Given the description of an element on the screen output the (x, y) to click on. 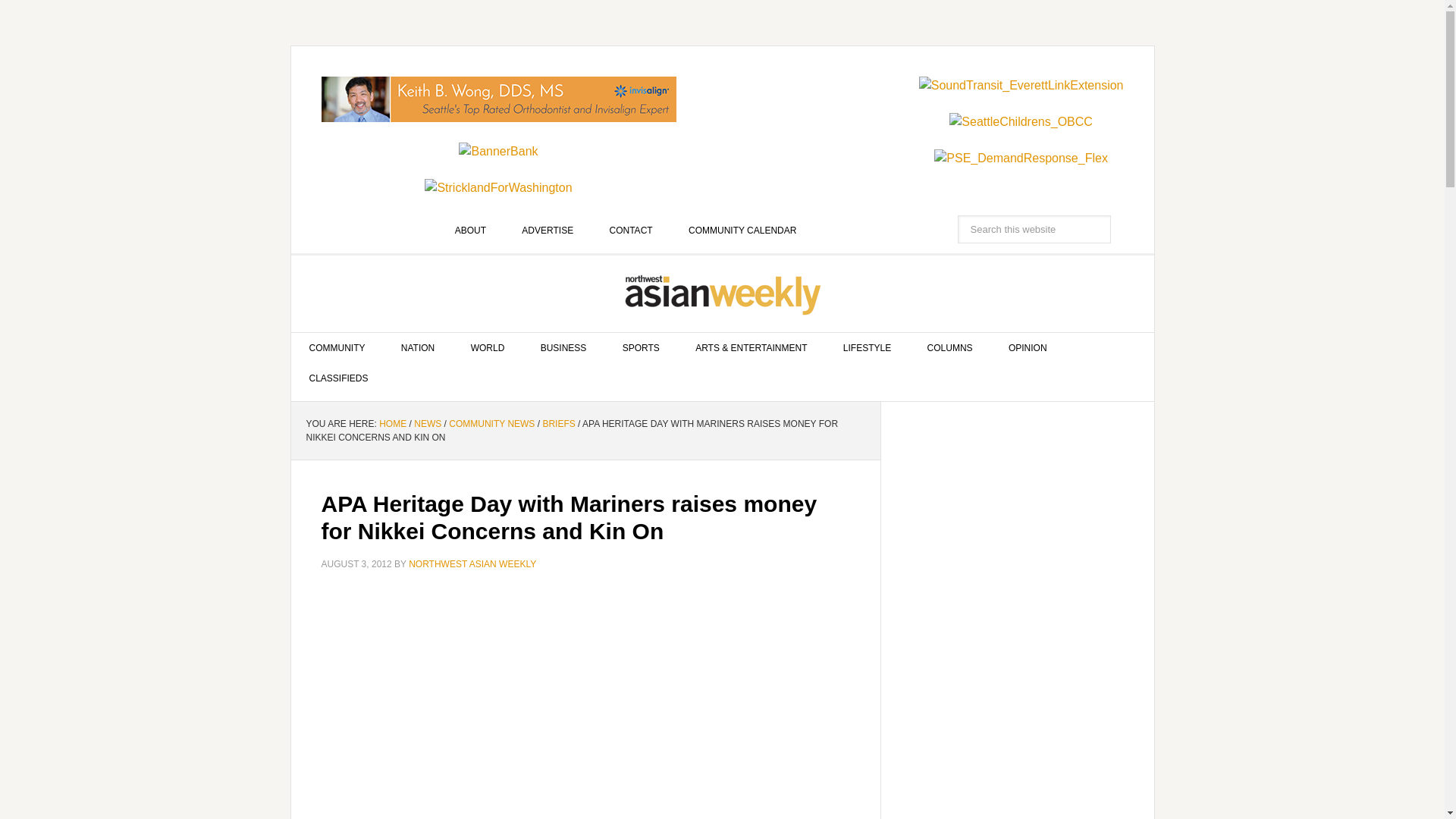
WORLD (487, 347)
ABOUT (469, 230)
ADVERTISE (547, 230)
COLUMNS (949, 347)
SPORTS (641, 347)
COMMUNITY CALENDAR (741, 230)
BUSINESS (563, 347)
LIFESTYLE (866, 347)
OPINION (1027, 347)
